Given the description of an element on the screen output the (x, y) to click on. 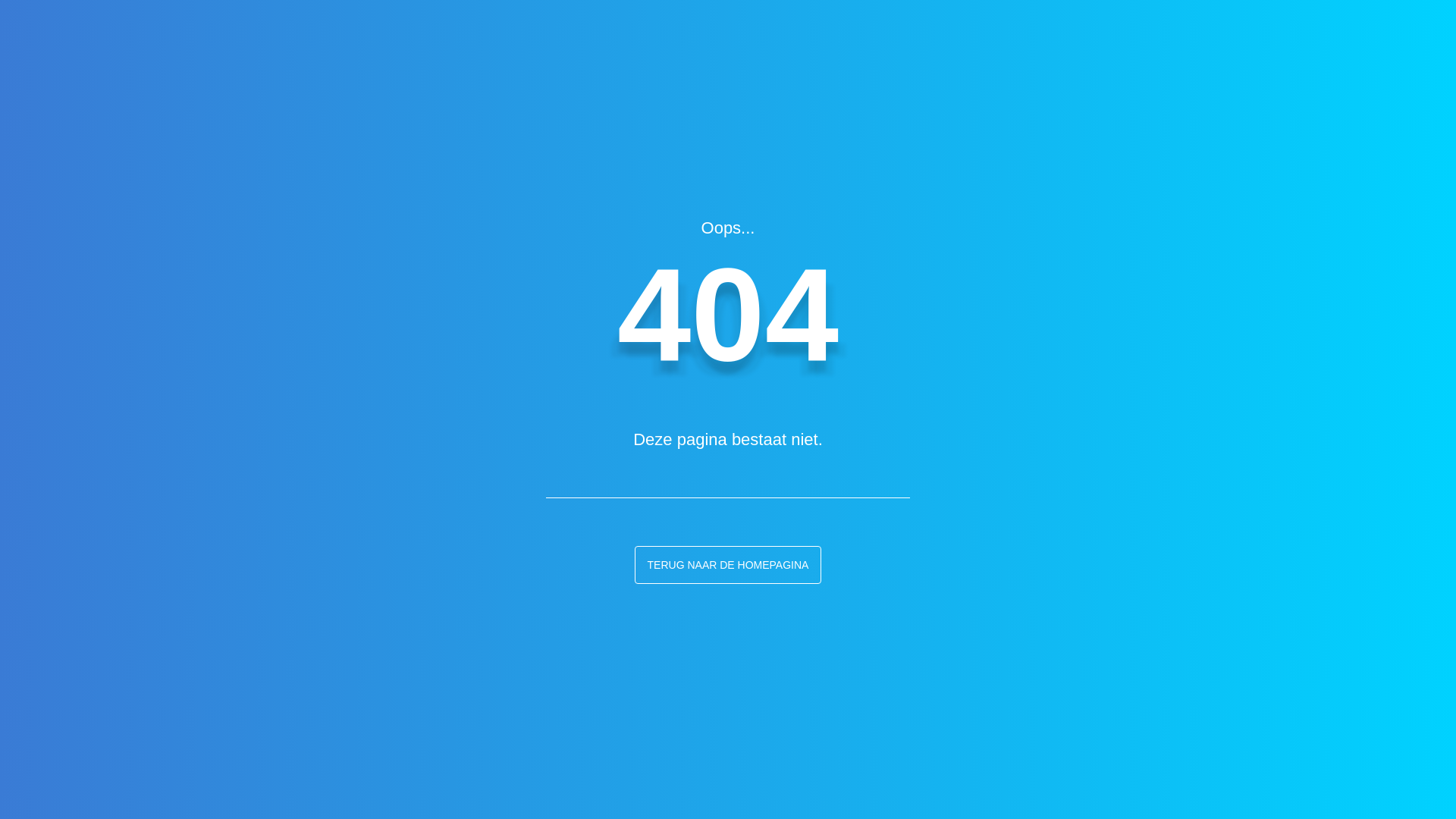
TERUG NAAR DE HOMEPAGINA Element type: text (728, 564)
